Given the description of an element on the screen output the (x, y) to click on. 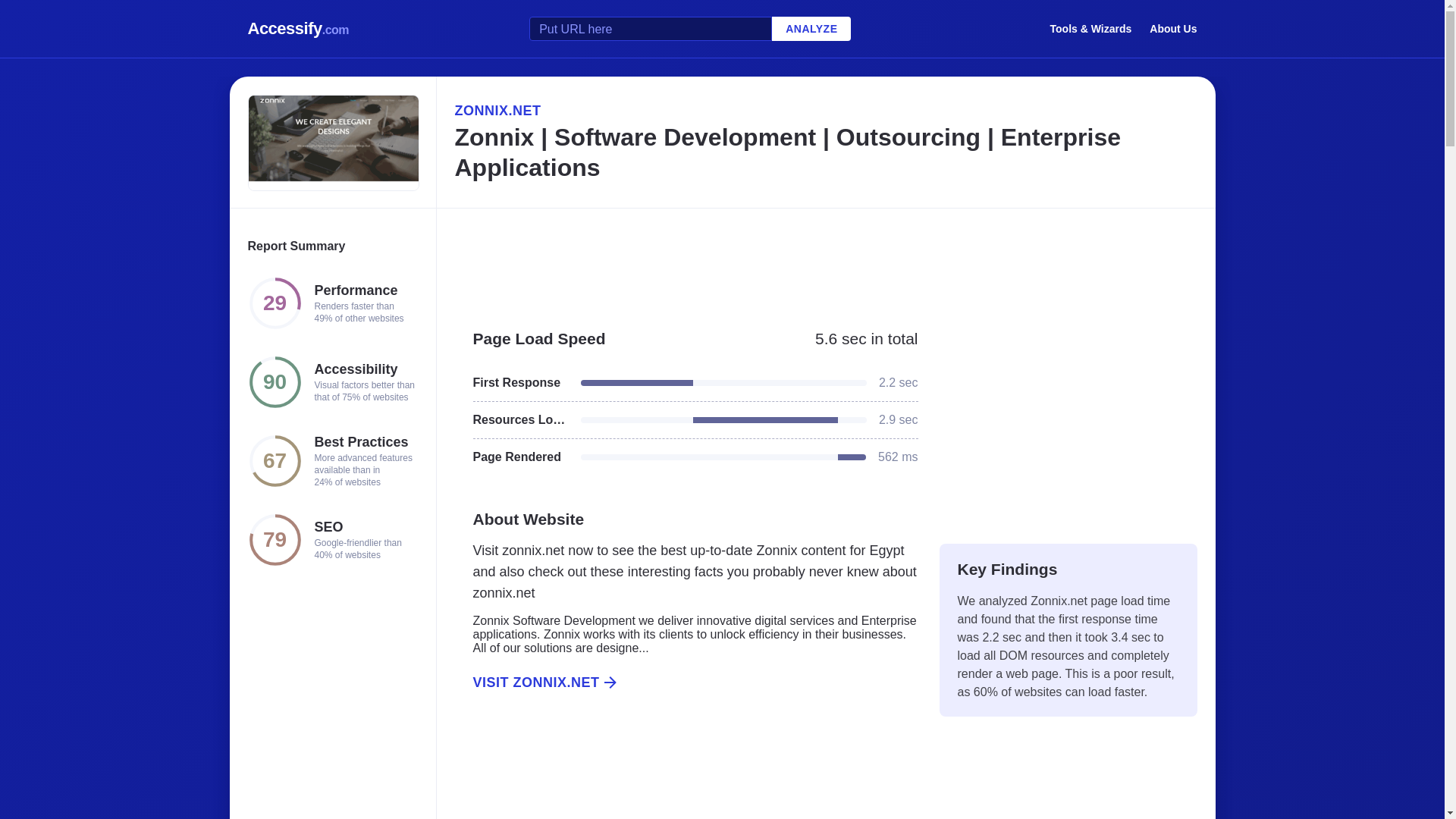
Advertisement (686, 771)
Advertisement (825, 260)
ANALYZE (810, 28)
ZONNIX.NET (825, 110)
About Us (1173, 28)
VISIT ZONNIX.NET (686, 682)
Accessify.com (298, 28)
Advertisement (1067, 418)
